Given the description of an element on the screen output the (x, y) to click on. 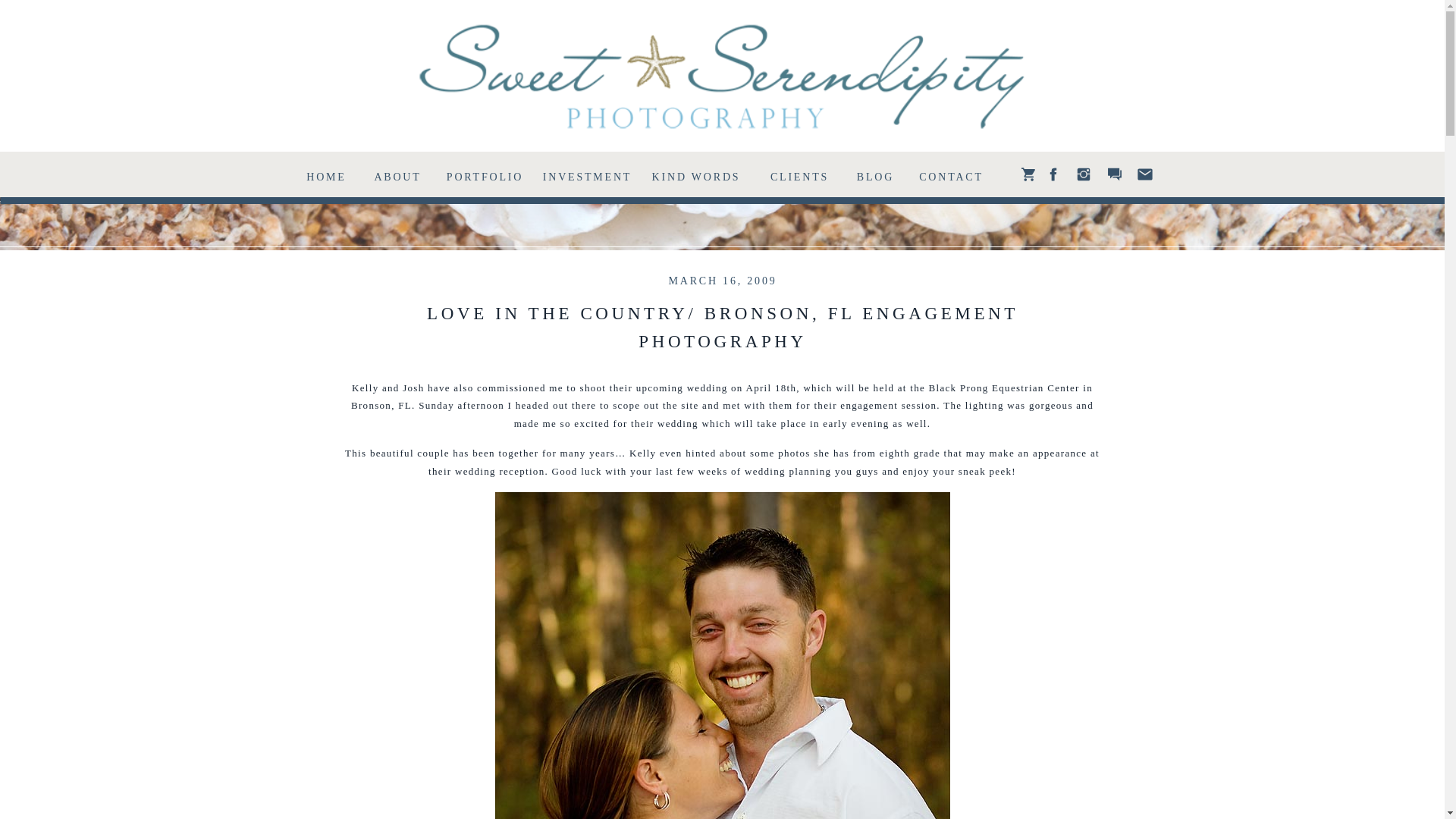
PORTFOLIO (485, 174)
BLOG (875, 174)
INVESTMENT (586, 174)
HOME (325, 174)
ABOUT (397, 174)
CONTACT (950, 174)
CLIENTS (800, 174)
KIND WORDS (695, 174)
